Given the description of an element on the screen output the (x, y) to click on. 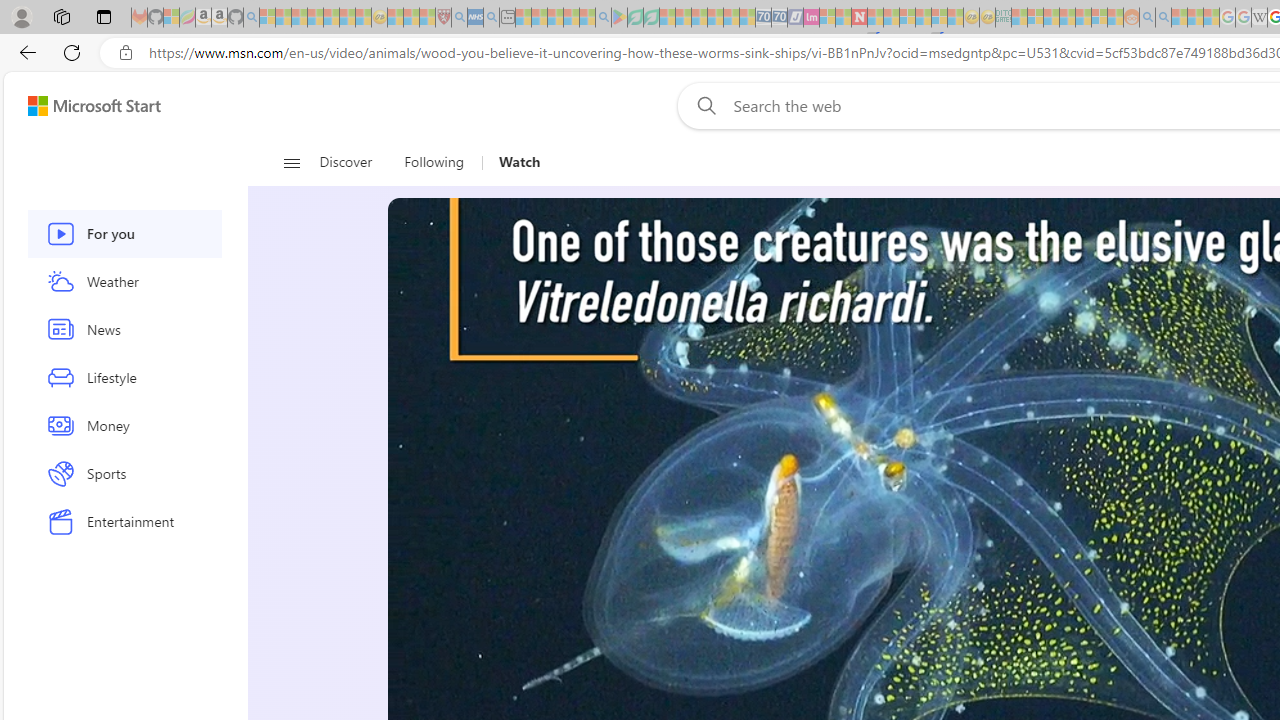
Skip to footer (82, 105)
Expert Portfolios - Sleeping (1067, 17)
google - Search - Sleeping (603, 17)
Kinda Frugal - MSN - Sleeping (1083, 17)
